Given the description of an element on the screen output the (x, y) to click on. 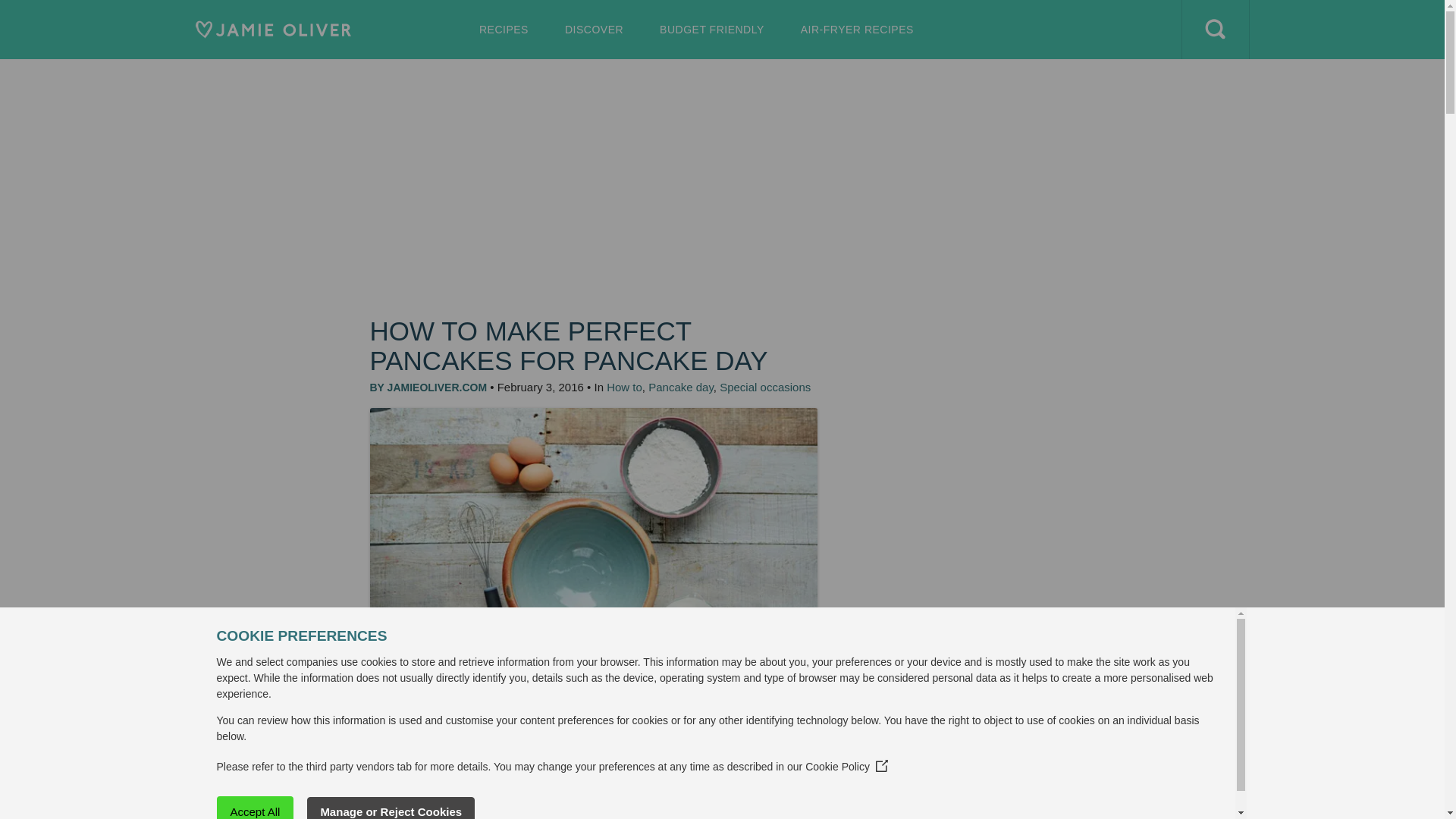
RECIPES (503, 29)
Jamie Oliver (272, 29)
Budget-friendly (711, 29)
Recipes (857, 29)
Discover (711, 29)
Manage or Reject Cookies (503, 29)
Jamie on YesChef (533, 87)
DISCOVER (593, 29)
Air-Fryer Recipes (160, 807)
